Given the description of an element on the screen output the (x, y) to click on. 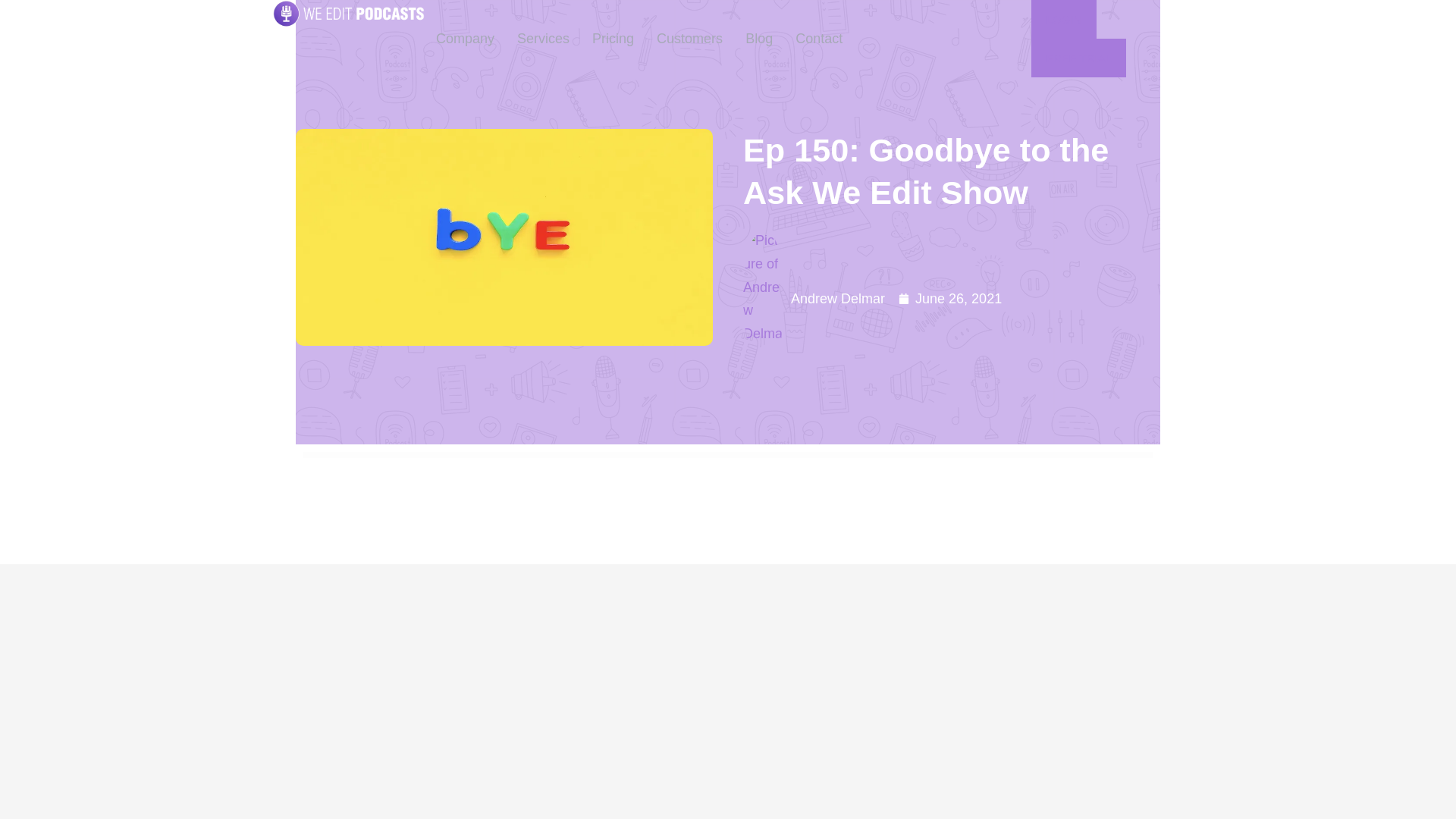
Company (465, 38)
Services (542, 38)
FREE TRIAL (1077, 57)
Contact (818, 38)
LOGIN (1063, 19)
Customers (689, 38)
